Given the description of an element on the screen output the (x, y) to click on. 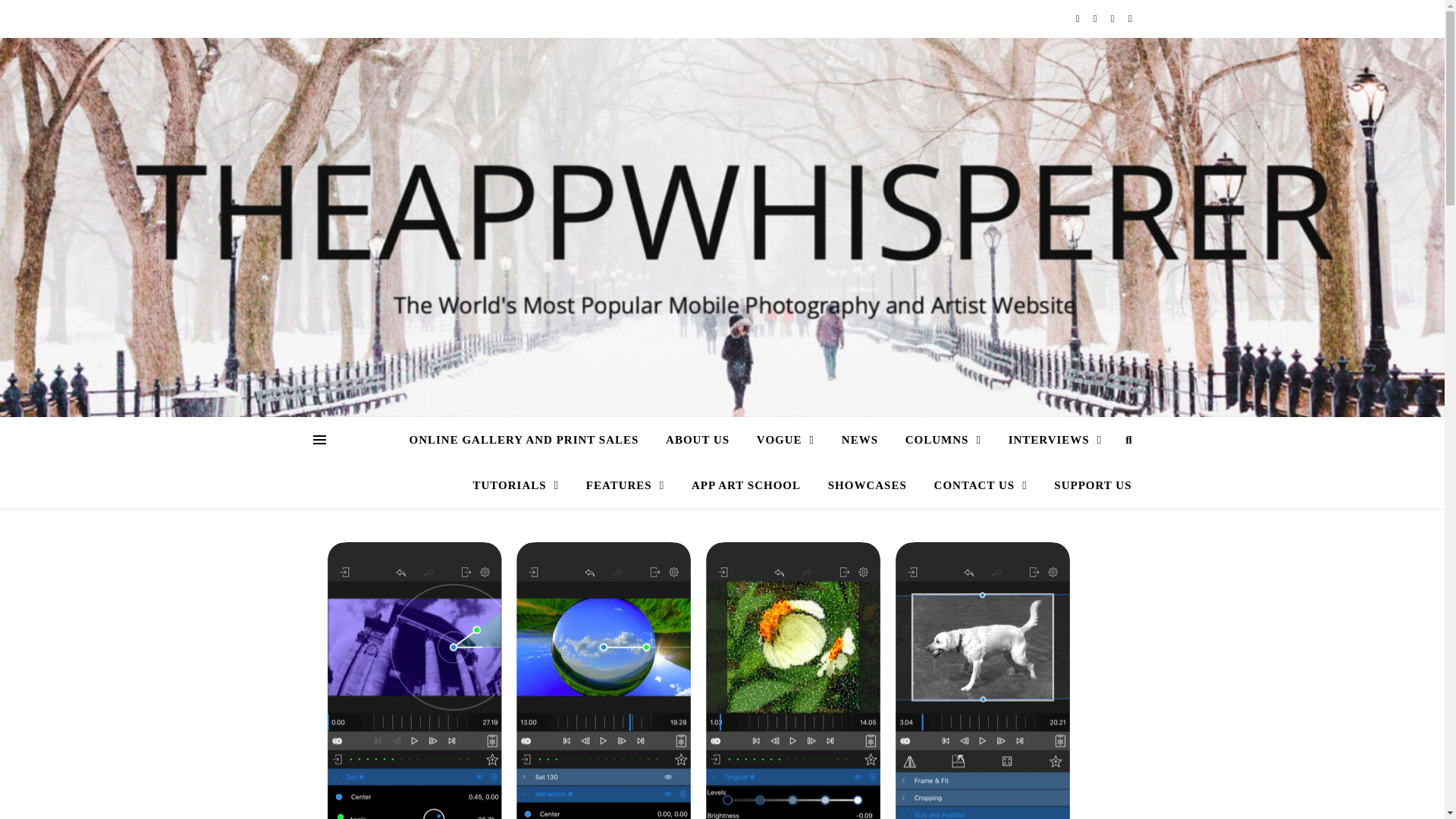
ONLINE GALLERY AND PRINT SALES (529, 439)
NEWS (859, 439)
COLUMNS (942, 439)
VOGUE (785, 439)
ABOUT US (697, 439)
